Given the description of an element on the screen output the (x, y) to click on. 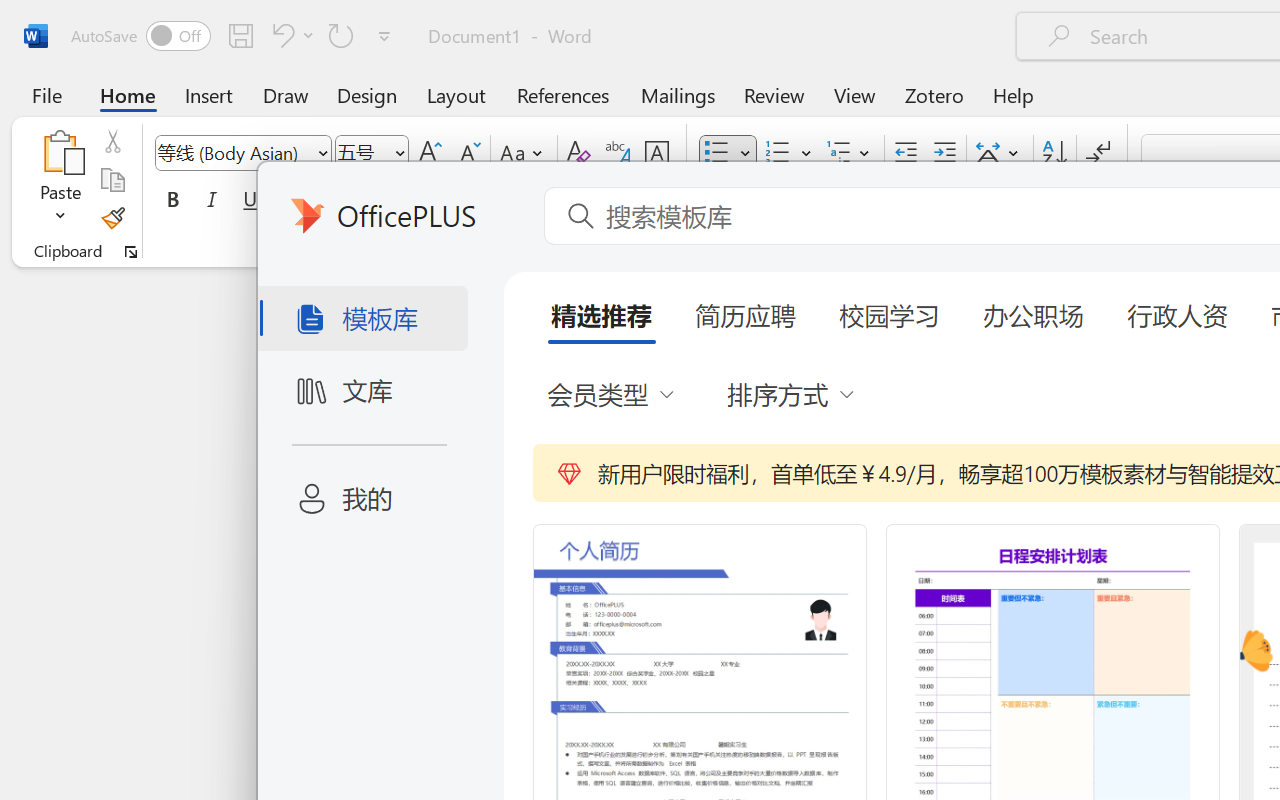
Repeat Bullet Default (341, 35)
Undo Bullet Default (290, 35)
